Given the description of an element on the screen output the (x, y) to click on. 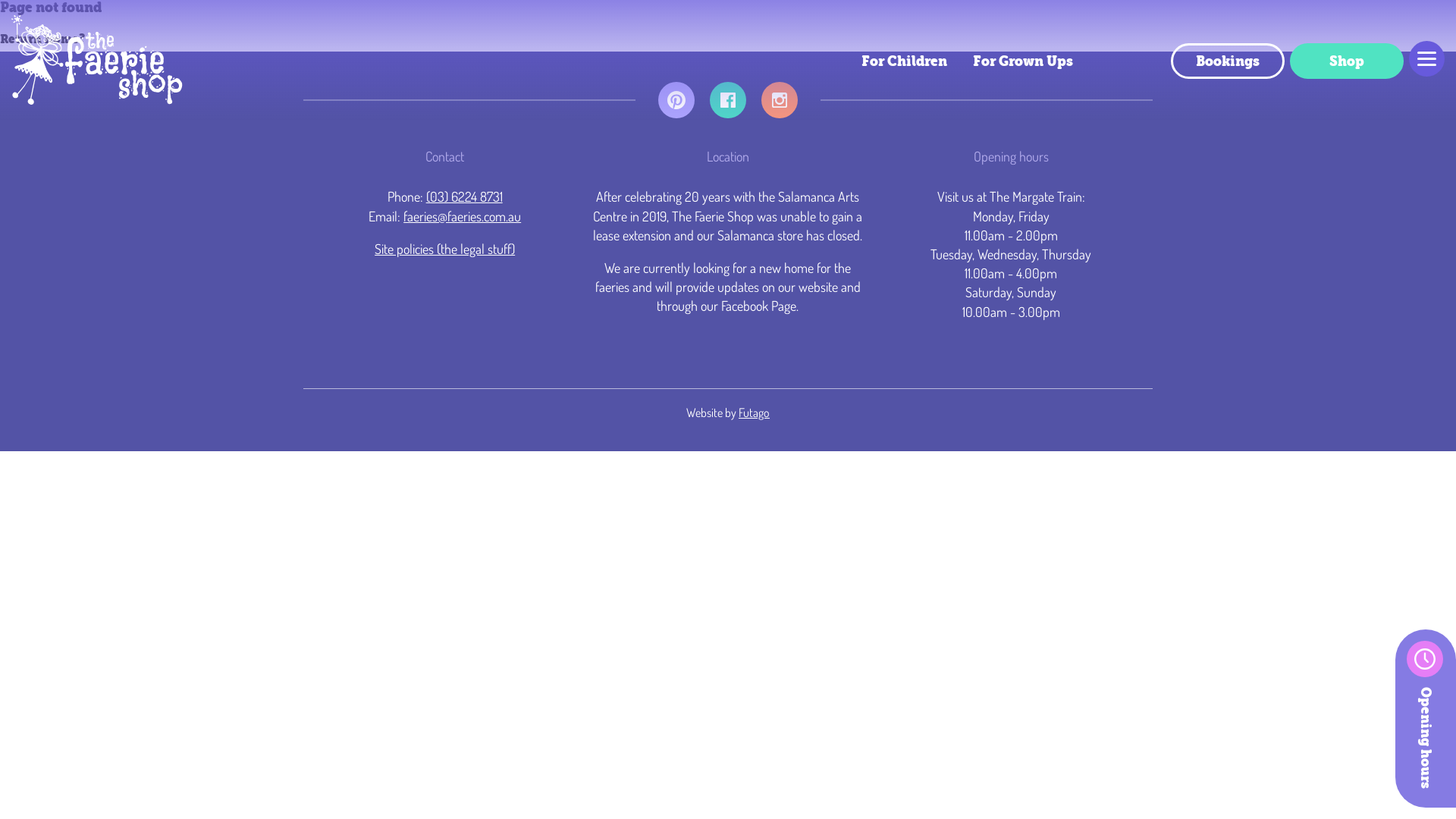
(03) 6224 8731 Element type: text (464, 196)
Return home? Element type: text (42, 39)
For Children Element type: text (903, 60)
Pinterest Element type: hover (676, 111)
Shop Element type: text (1346, 60)
Facebook Element type: hover (727, 111)
Menu Element type: text (1426, 58)
Site policies (the legal stuff) Element type: text (444, 248)
Instagram Element type: hover (779, 111)
faeries@faeries.com.au Element type: text (461, 215)
Futago Element type: text (753, 412)
For Grown Ups Element type: text (1022, 60)
Bookings Element type: text (1227, 60)
